Given the description of an element on the screen output the (x, y) to click on. 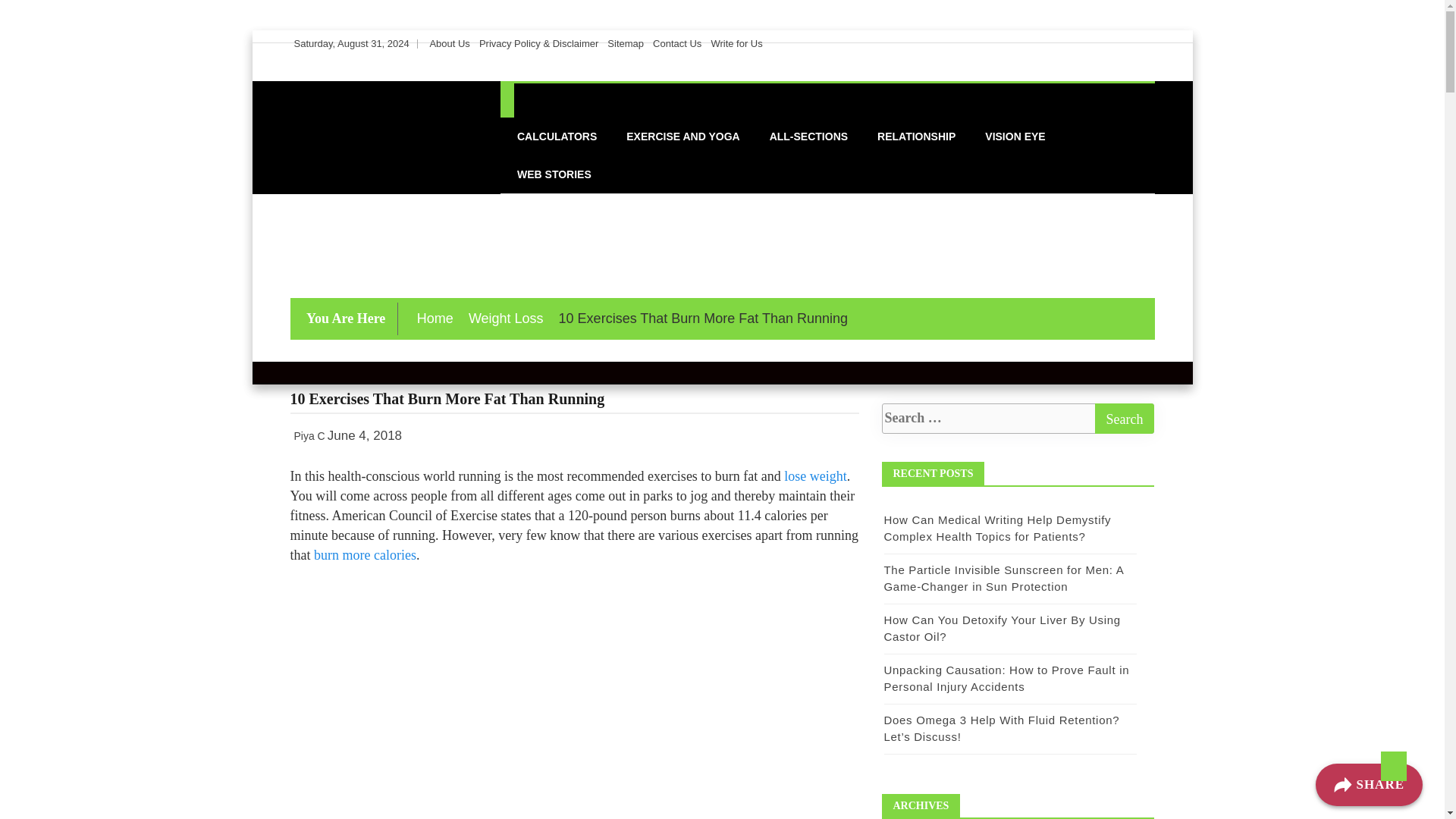
Search (1124, 418)
CALCULATORS (556, 136)
Contact Us (676, 43)
10 Exercises That Burn More Fat Than Running 1 (574, 697)
About Us (448, 43)
Search (1124, 418)
Sitemap (625, 43)
EXERCISE AND YOGA (682, 136)
Write for Us (735, 43)
